Given the description of an element on the screen output the (x, y) to click on. 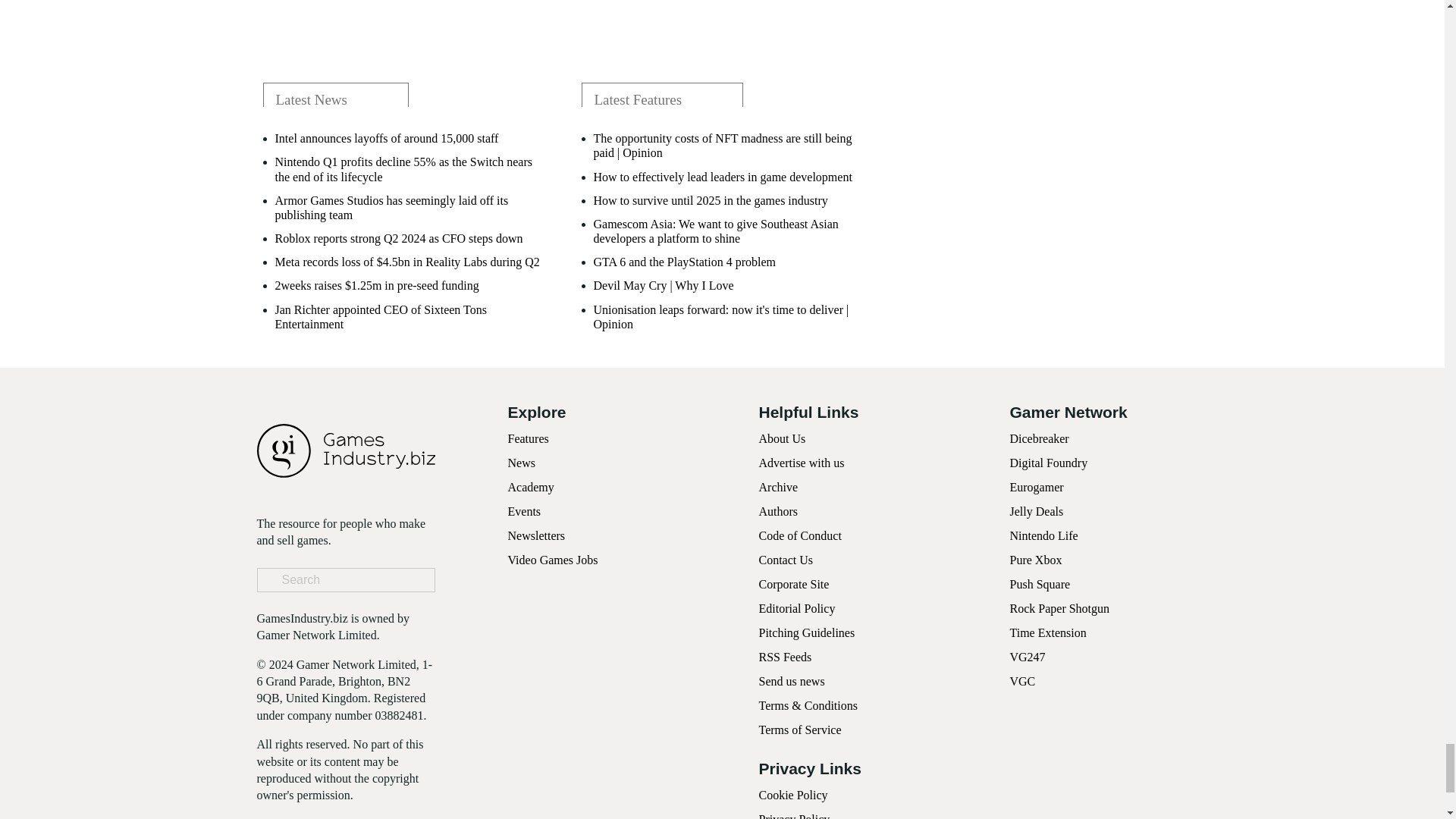
Archive (777, 486)
Video Games Jobs (553, 559)
News (521, 462)
Features (528, 438)
Newsletters (537, 535)
Authors (777, 511)
About Us (781, 438)
Advertise with us (801, 462)
Academy (531, 486)
Events (524, 511)
